Given the description of an element on the screen output the (x, y) to click on. 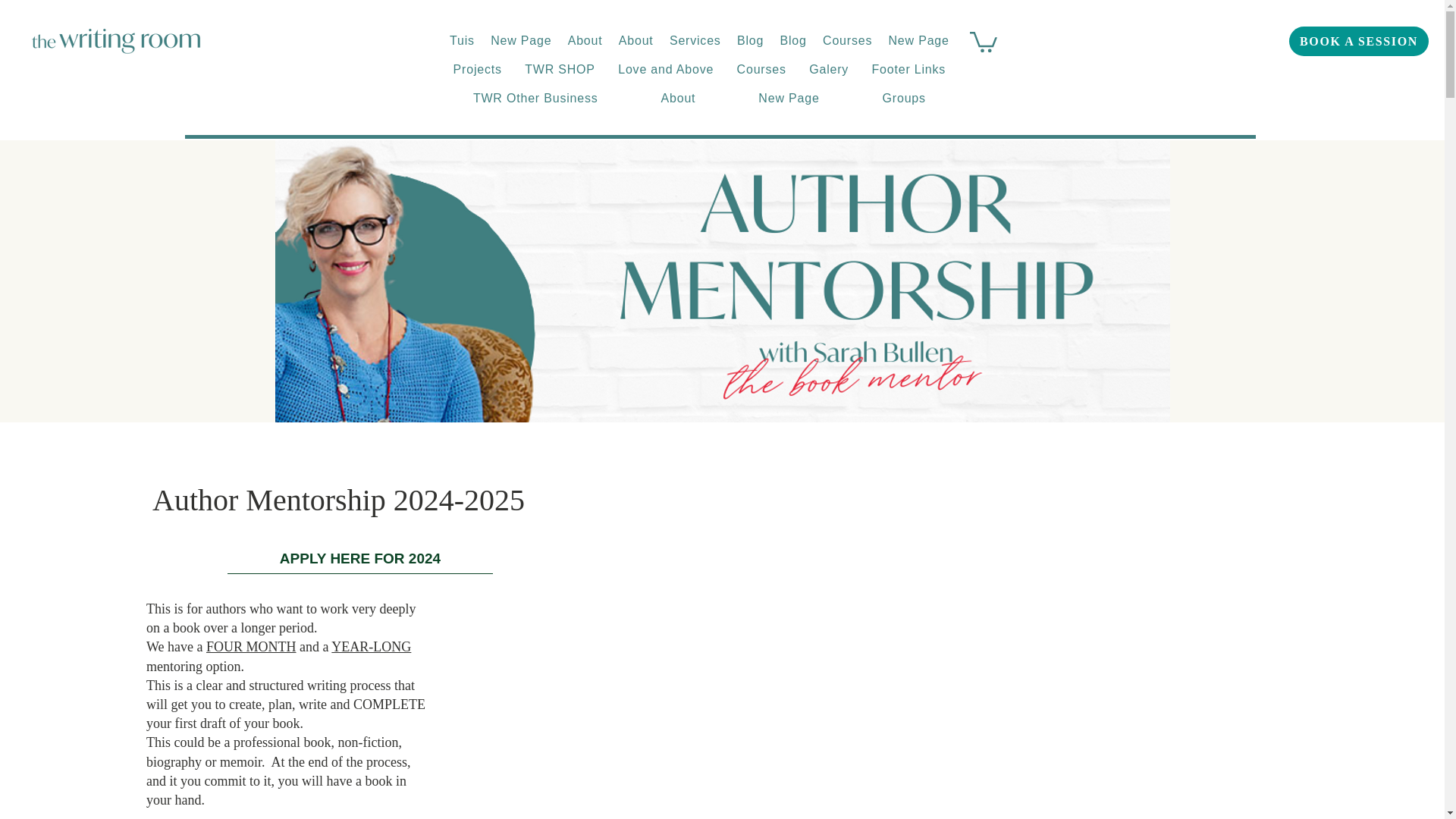
About (584, 40)
Tuis (461, 40)
New Page (919, 40)
Blog (793, 40)
New Page (521, 40)
Projects (477, 69)
